Given the description of an element on the screen output the (x, y) to click on. 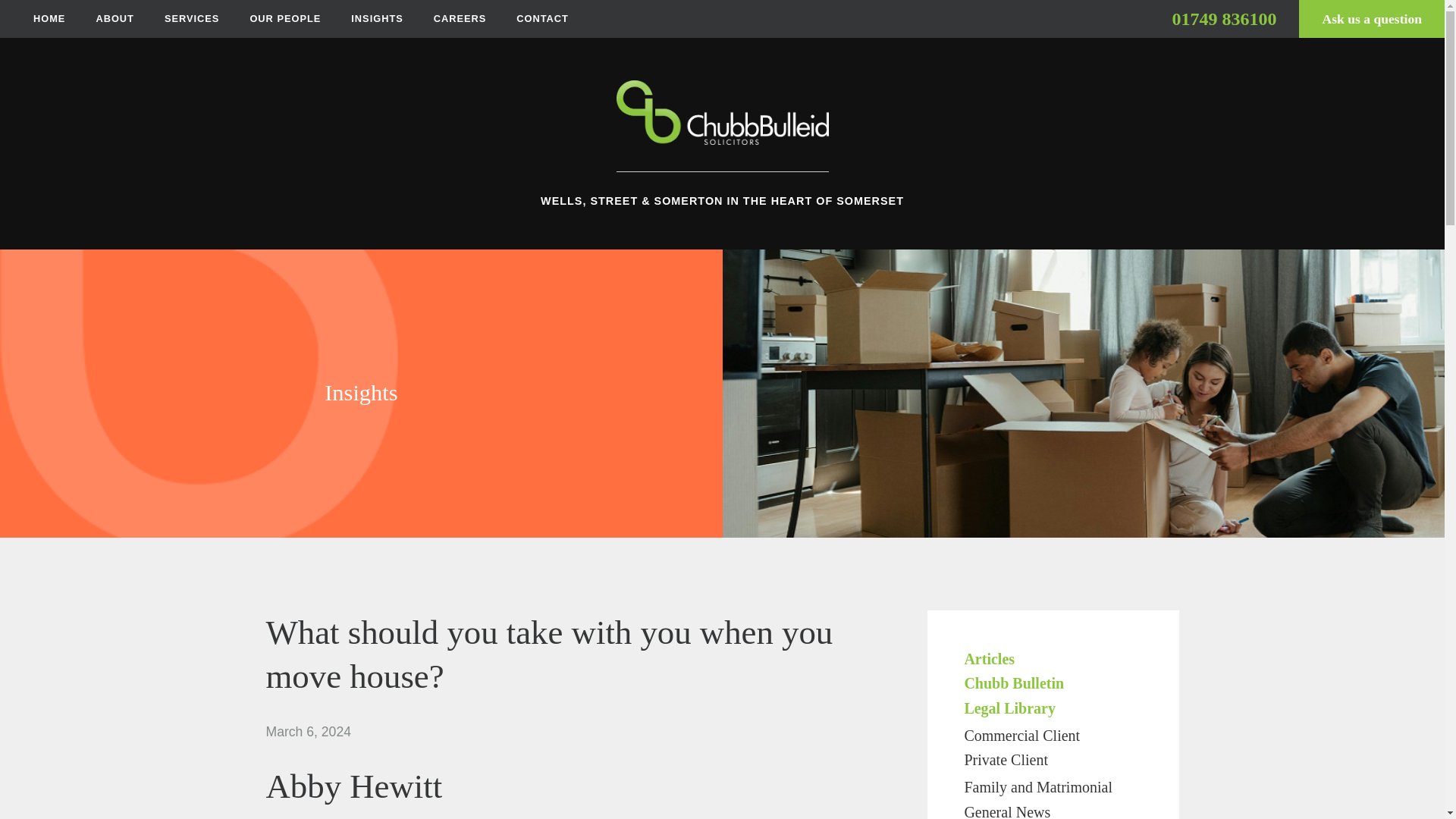
Chubb Bulleid (721, 125)
01749 836100 (1223, 18)
